Given the description of an element on the screen output the (x, y) to click on. 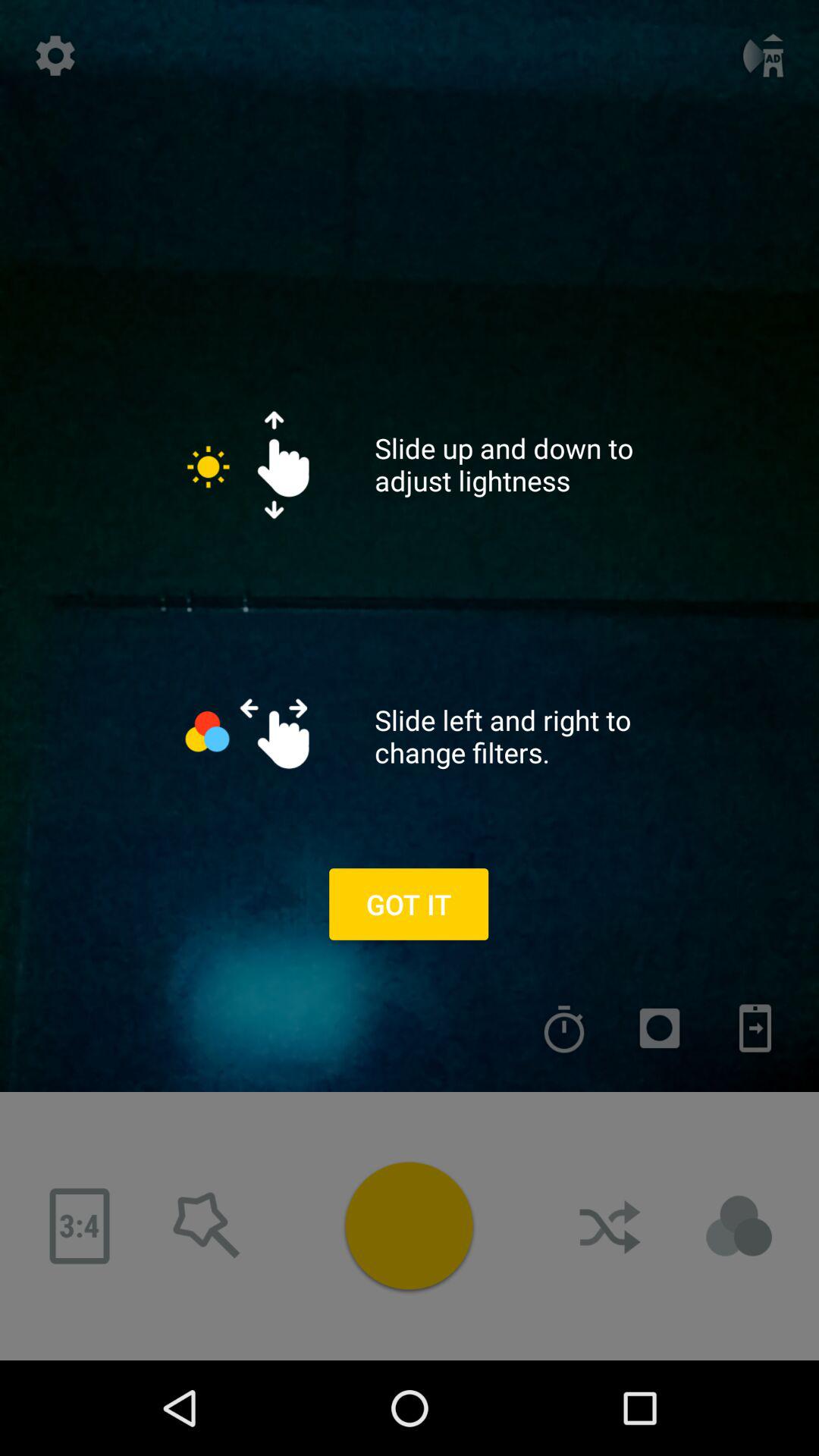
filter button (739, 1226)
